Given the description of an element on the screen output the (x, y) to click on. 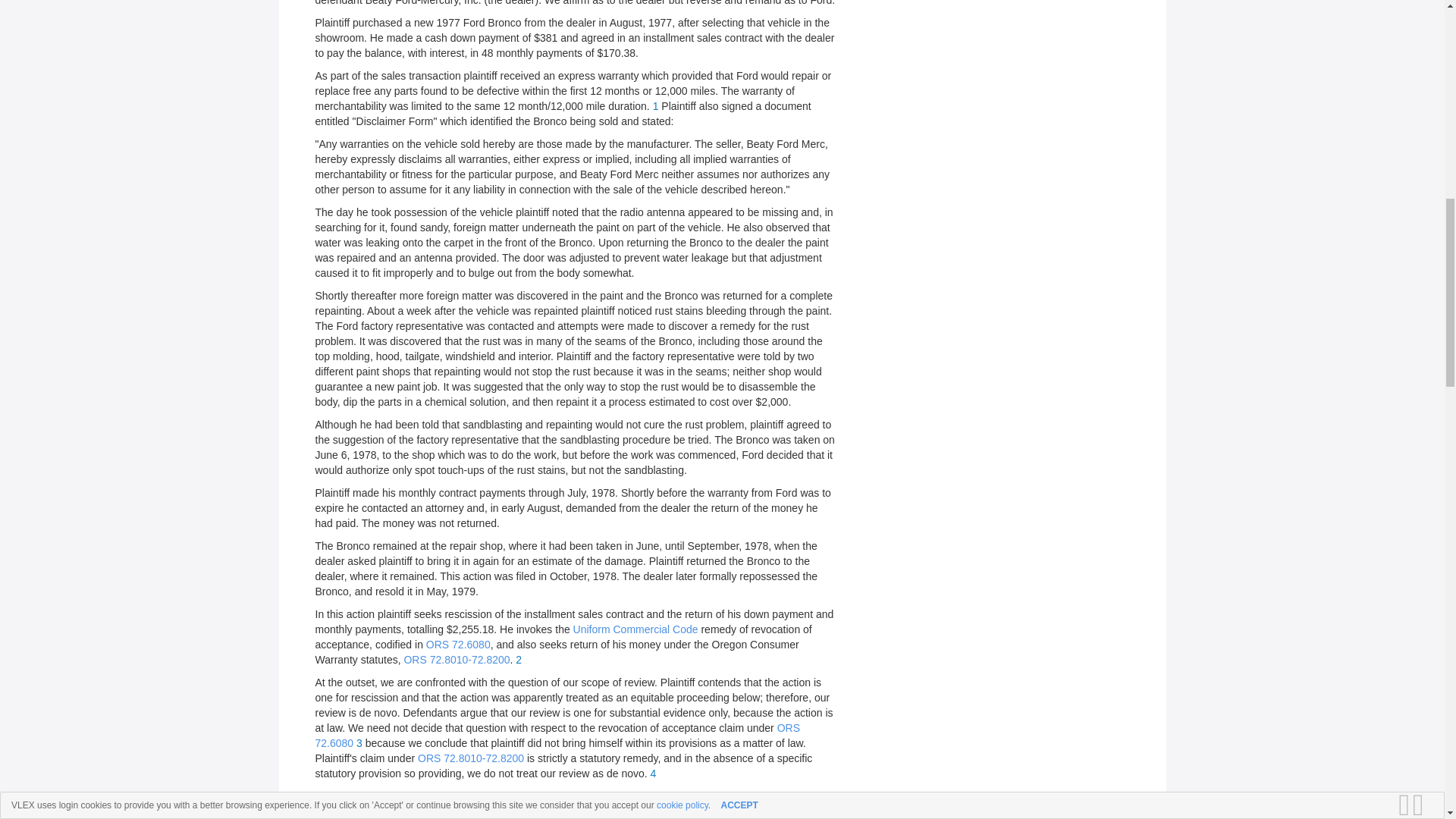
ORS 72.8010-72.8200 (470, 758)
Uniform Commercial Code (635, 629)
ORS 72.6080 (458, 644)
ORS 72.6080 (557, 735)
ORS 72.8010-72.8200 (456, 659)
